Given the description of an element on the screen output the (x, y) to click on. 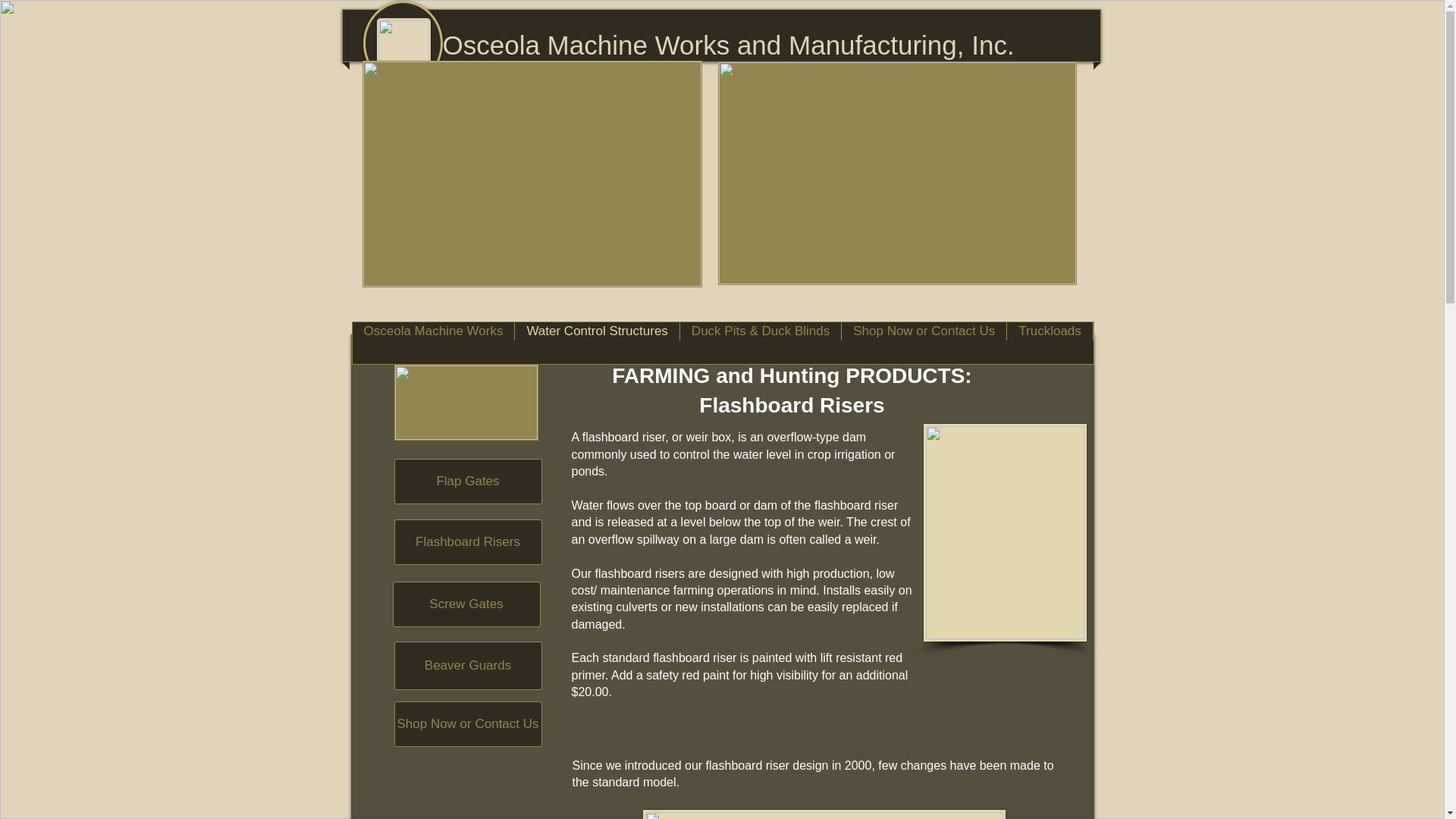
Flap Gates (467, 481)
Flashboard Riser to fit Metal Culvert (824, 814)
Shop Now or Contact Us (467, 723)
Screw Gates (466, 604)
Truckloads (1049, 342)
Flashboard Risers (467, 542)
Water Control Structures (595, 342)
Shop Now or Contact Us (923, 342)
Osceola Machine Works (432, 342)
Flashboard Riser to fit Plastic Culverts (896, 173)
Flashboard Riser to fit Metal Culverts (531, 173)
Beaver Guards (467, 665)
